Given the description of an element on the screen output the (x, y) to click on. 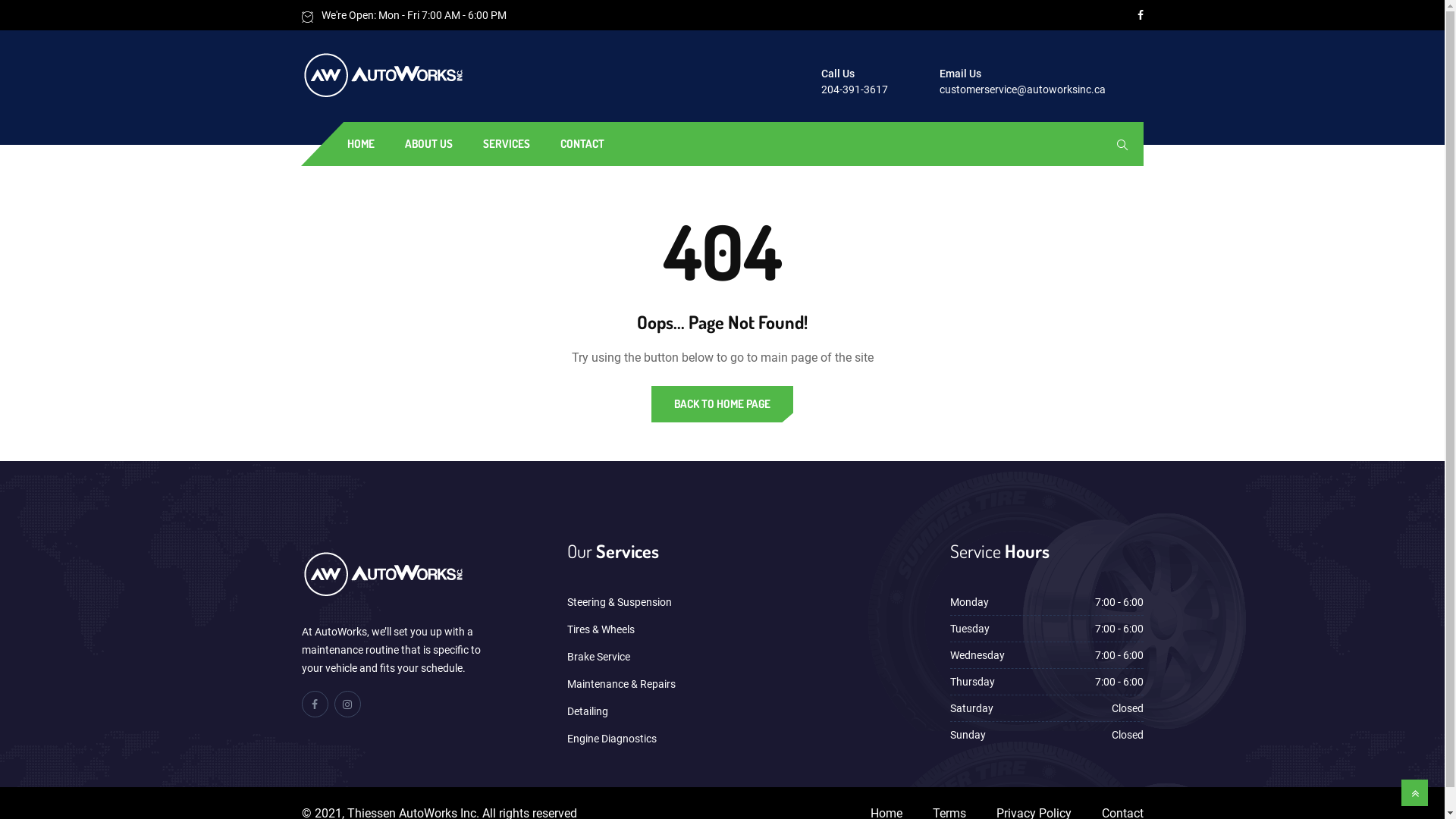
CONTACT Element type: text (582, 144)
Maintenance & Repairs Element type: text (621, 683)
Engine Diagnostics Element type: text (611, 738)
Brake Service Element type: text (598, 656)
Steering & Suspension Element type: text (619, 602)
BACK TO HOME PAGE Element type: text (721, 404)
HOME Element type: text (359, 144)
Back to Top Element type: hover (1414, 792)
Tires & Wheels Element type: text (600, 629)
ABOUT US Element type: text (427, 144)
Detailing Element type: text (587, 711)
SERVICES Element type: text (506, 144)
